Given the description of an element on the screen output the (x, y) to click on. 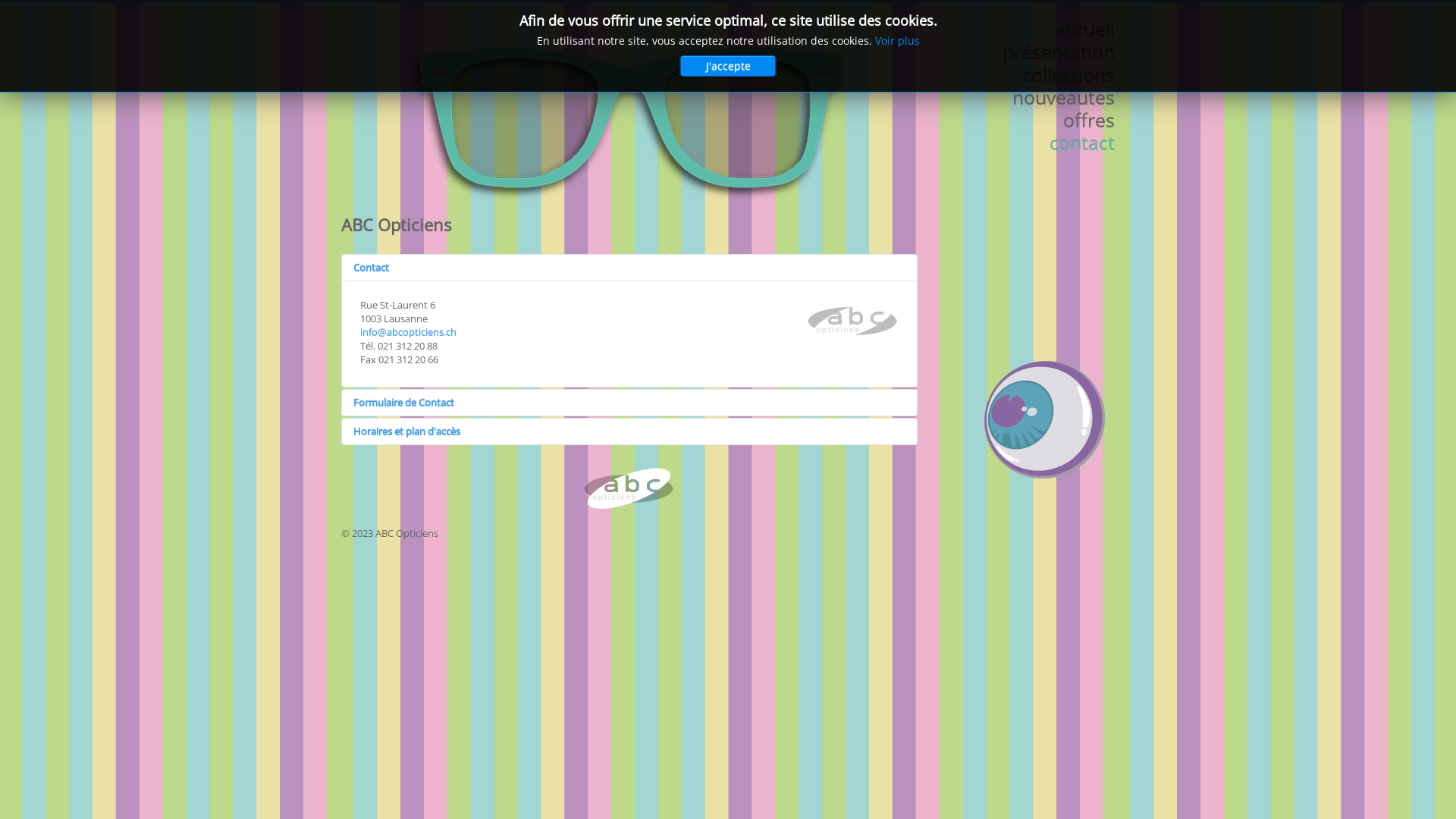
Contact Element type: text (629, 267)
collections Element type: text (1030, 73)
info@abcopticiens.ch Element type: text (408, 331)
Cliquez pour nous contacter Element type: hover (629, 488)
Voir plus Element type: text (897, 40)
contact Element type: text (1030, 142)
Formulaire de Contact Element type: text (629, 402)
offres Element type: text (1030, 119)
accueil Element type: text (1030, 28)
